Given the description of an element on the screen output the (x, y) to click on. 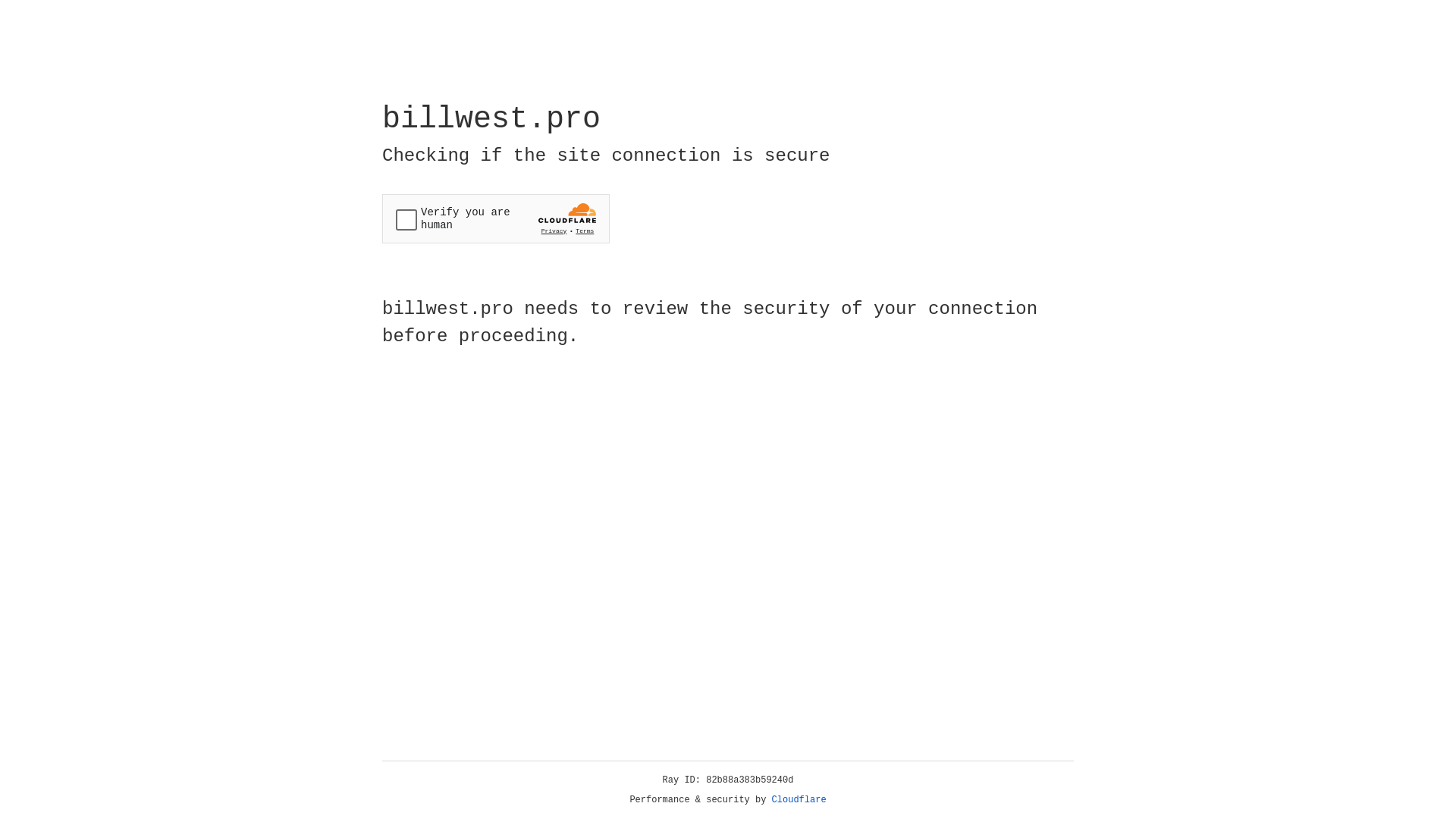
Cloudflare Element type: text (798, 799)
Widget containing a Cloudflare security challenge Element type: hover (495, 218)
